Given the description of an element on the screen output the (x, y) to click on. 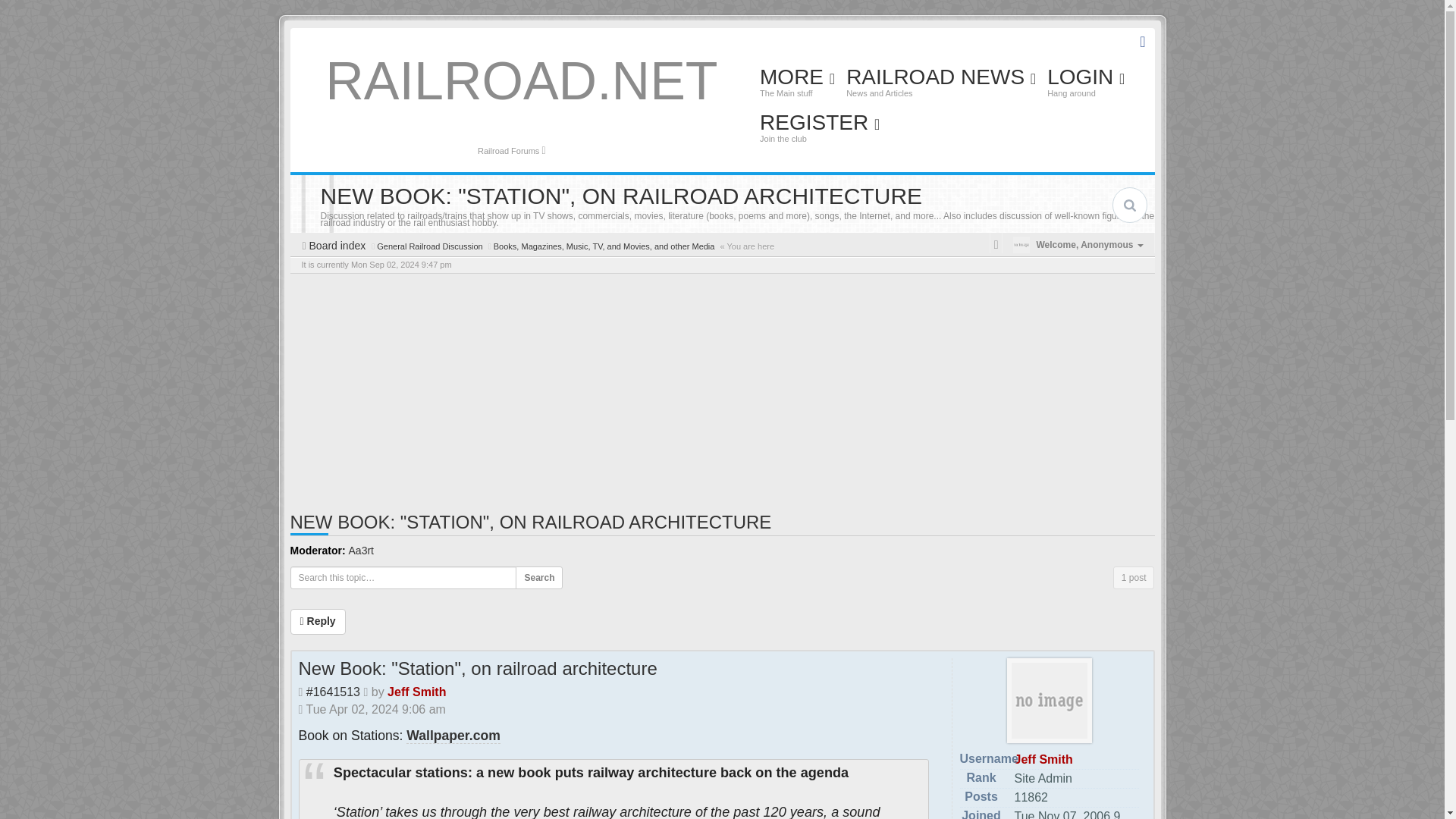
 Board index (335, 245)
Wallpaper.com (453, 735)
Welcome, Anonymous (1078, 240)
New Book: "Station", on railroad architecture (478, 668)
Books, Magazines, Music, TV, and Movies, and other Media (603, 245)
 Reply (317, 621)
REGISTER (819, 128)
Search for keywords (1129, 204)
LOGIN (1085, 83)
MORE  (796, 83)
